Given the description of an element on the screen output the (x, y) to click on. 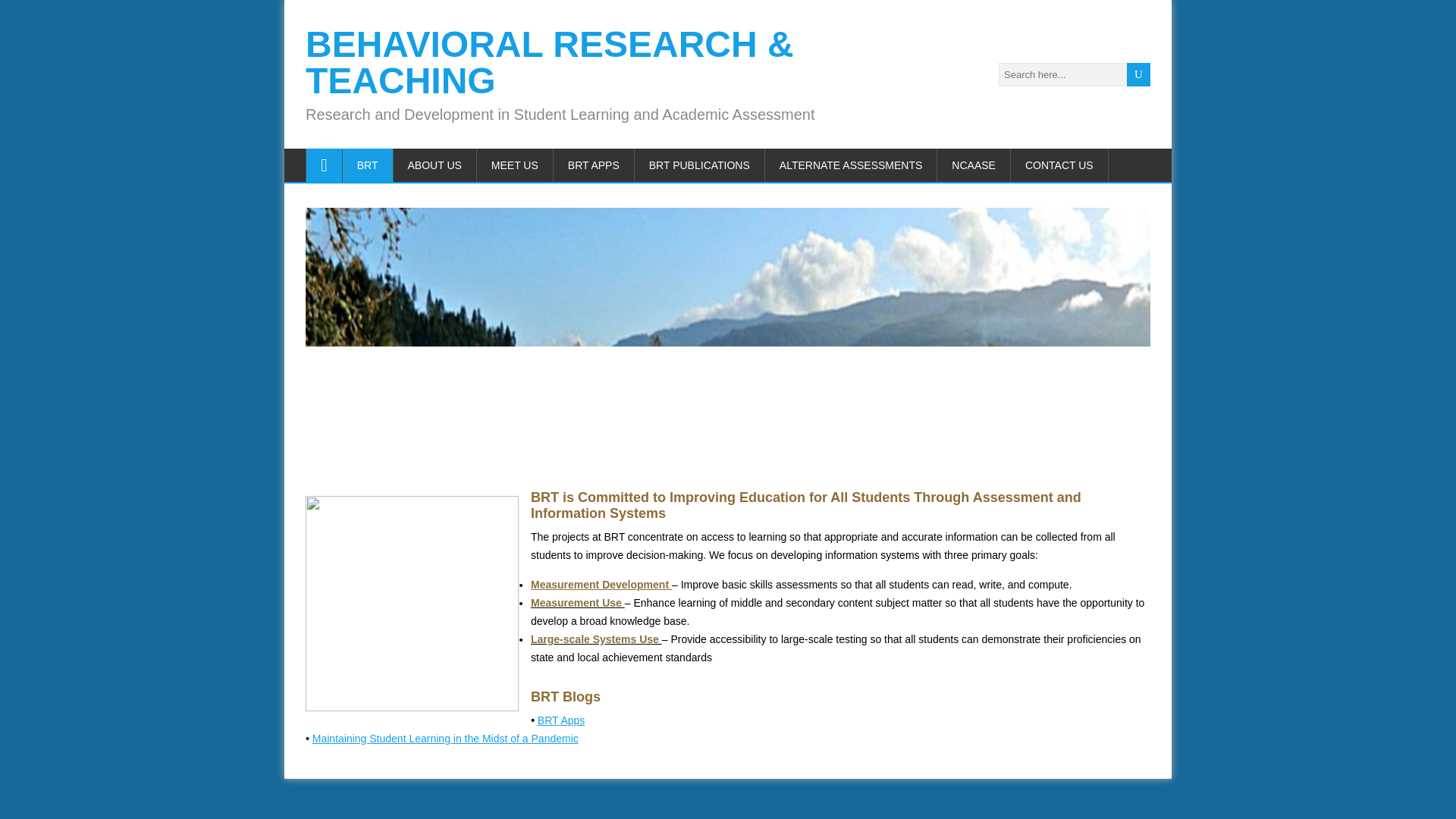
BRT APPS (593, 164)
CONTACT US (1059, 164)
ABOUT US (435, 164)
MEET US (515, 164)
BRT PUBLICATIONS (699, 164)
BRT (367, 164)
ALTERNATE ASSESSMENTS (851, 164)
BRT Apps (561, 720)
U (1138, 74)
U (1138, 74)
